Given the description of an element on the screen output the (x, y) to click on. 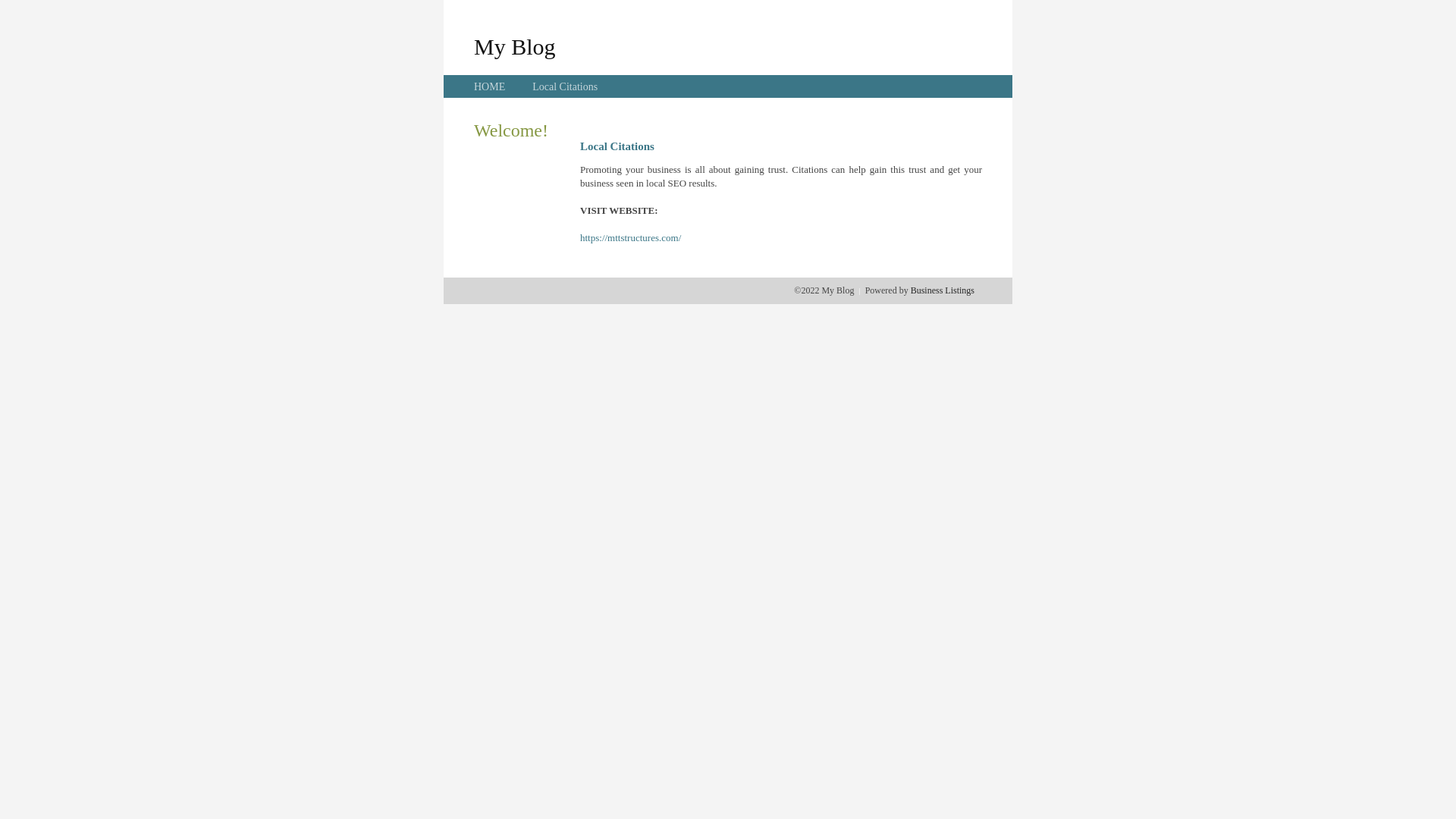
HOME Element type: text (489, 86)
My Blog Element type: text (514, 46)
Business Listings Element type: text (942, 290)
https://mttstructures.com/ Element type: text (630, 237)
Local Citations Element type: text (564, 86)
